Given the description of an element on the screen output the (x, y) to click on. 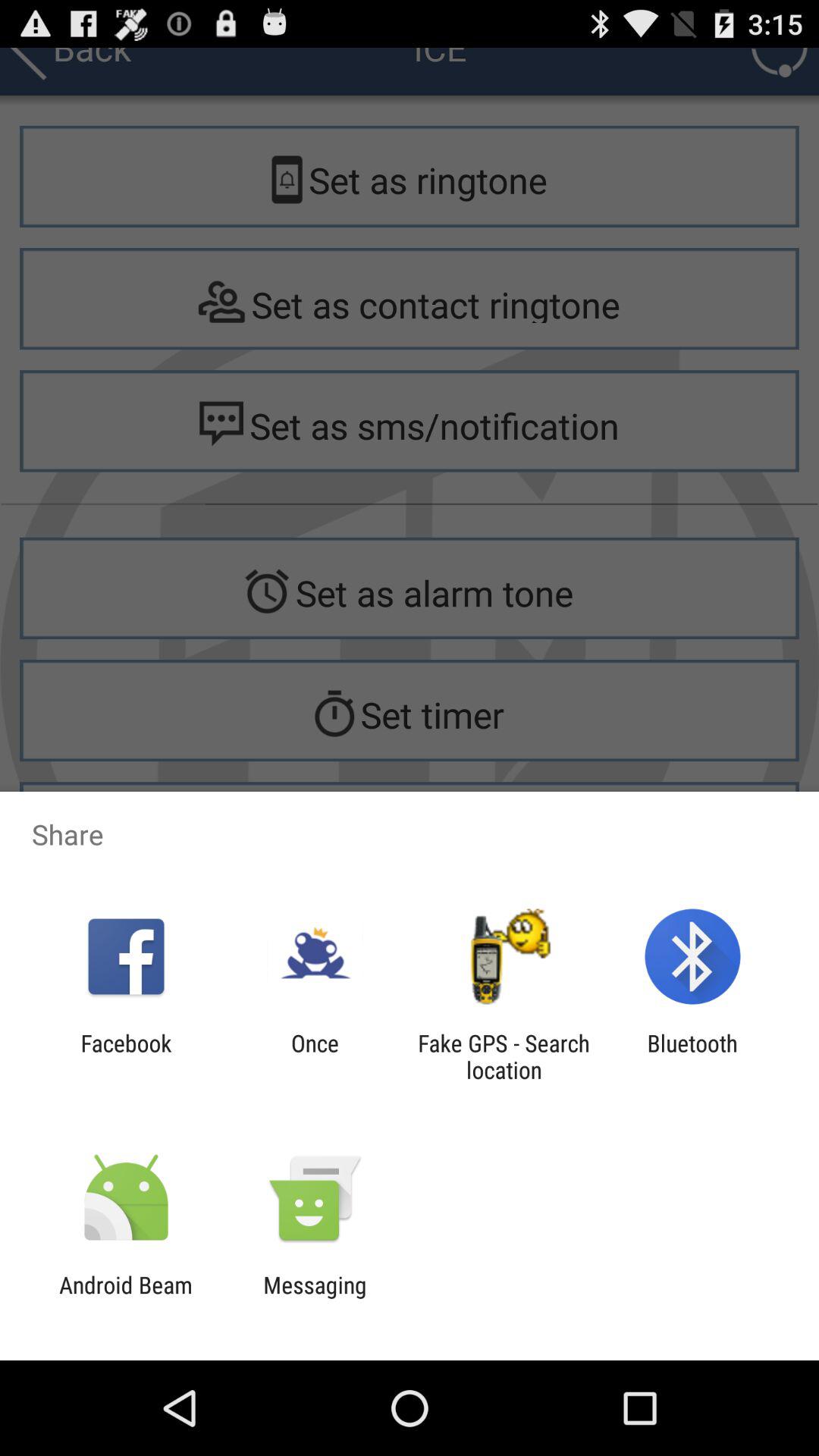
flip to the bluetooth app (692, 1056)
